Given the description of an element on the screen output the (x, y) to click on. 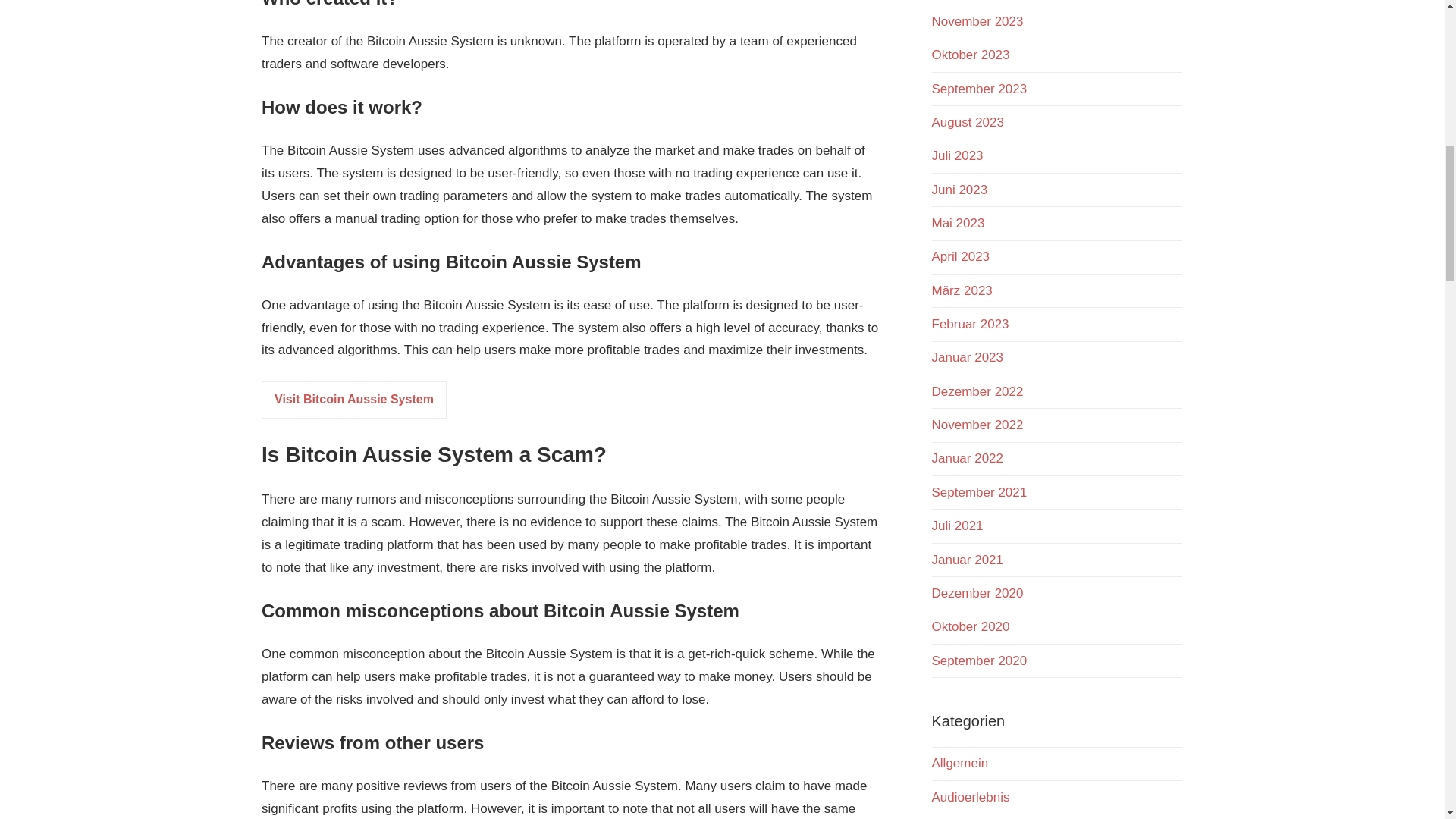
Mai 2023 (957, 223)
Visit Bitcoin Aussie System (354, 399)
Visit Bitcoin Aussie System (354, 399)
September 2023 (978, 88)
Oktober 2023 (970, 54)
Juli 2021 (956, 525)
Januar 2022 (967, 458)
Februar 2023 (970, 323)
Januar 2021 (967, 559)
April 2023 (960, 256)
